Given the description of an element on the screen output the (x, y) to click on. 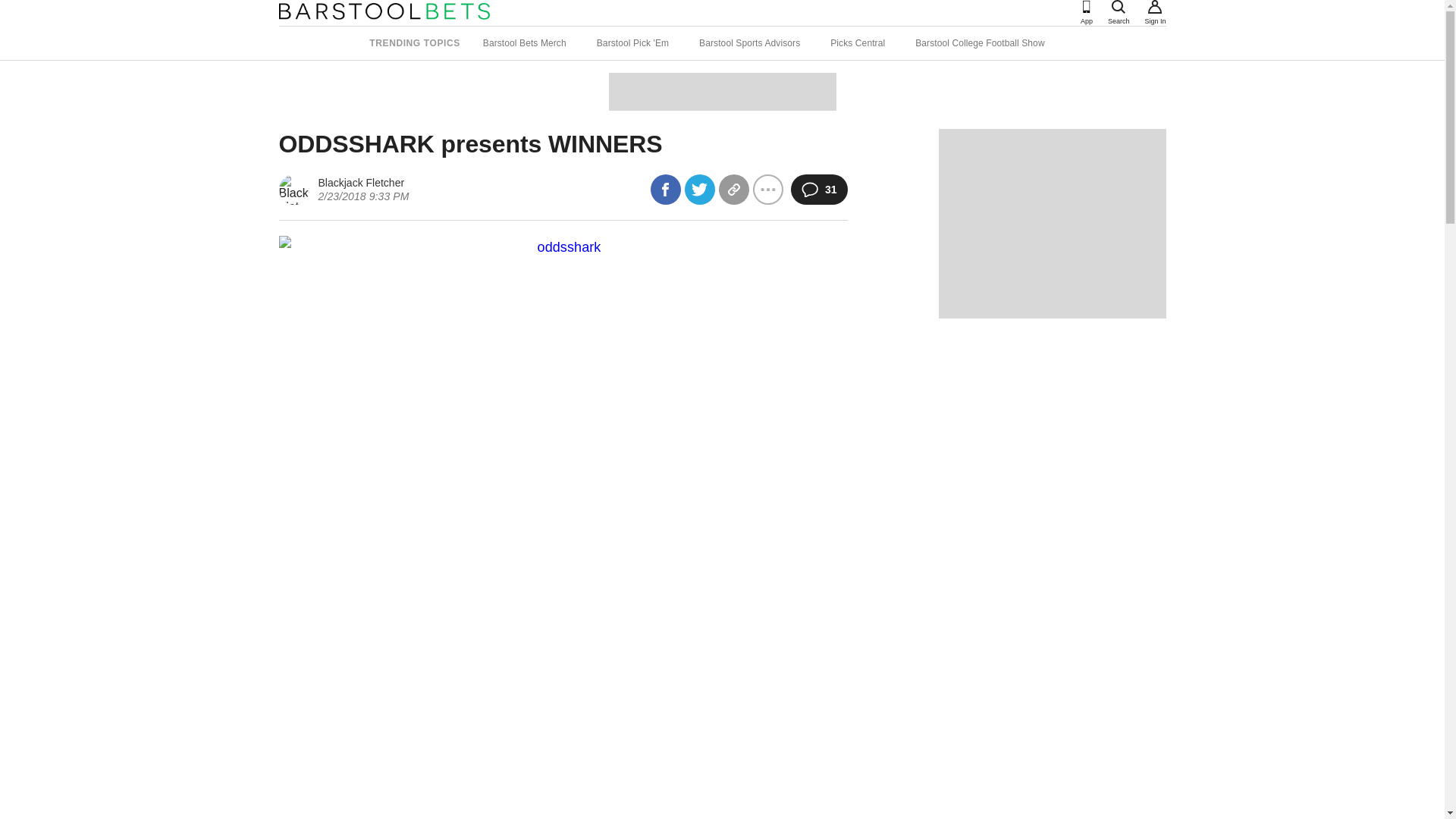
Barstool Sports Advisors (748, 42)
31 (818, 189)
Picks Central (857, 42)
Barstool Bets Merch (524, 42)
Search (1118, 6)
Barstool College Football Show (979, 42)
Barstool Pick 'Em (632, 42)
Sign Up (1154, 6)
